Given the description of an element on the screen output the (x, y) to click on. 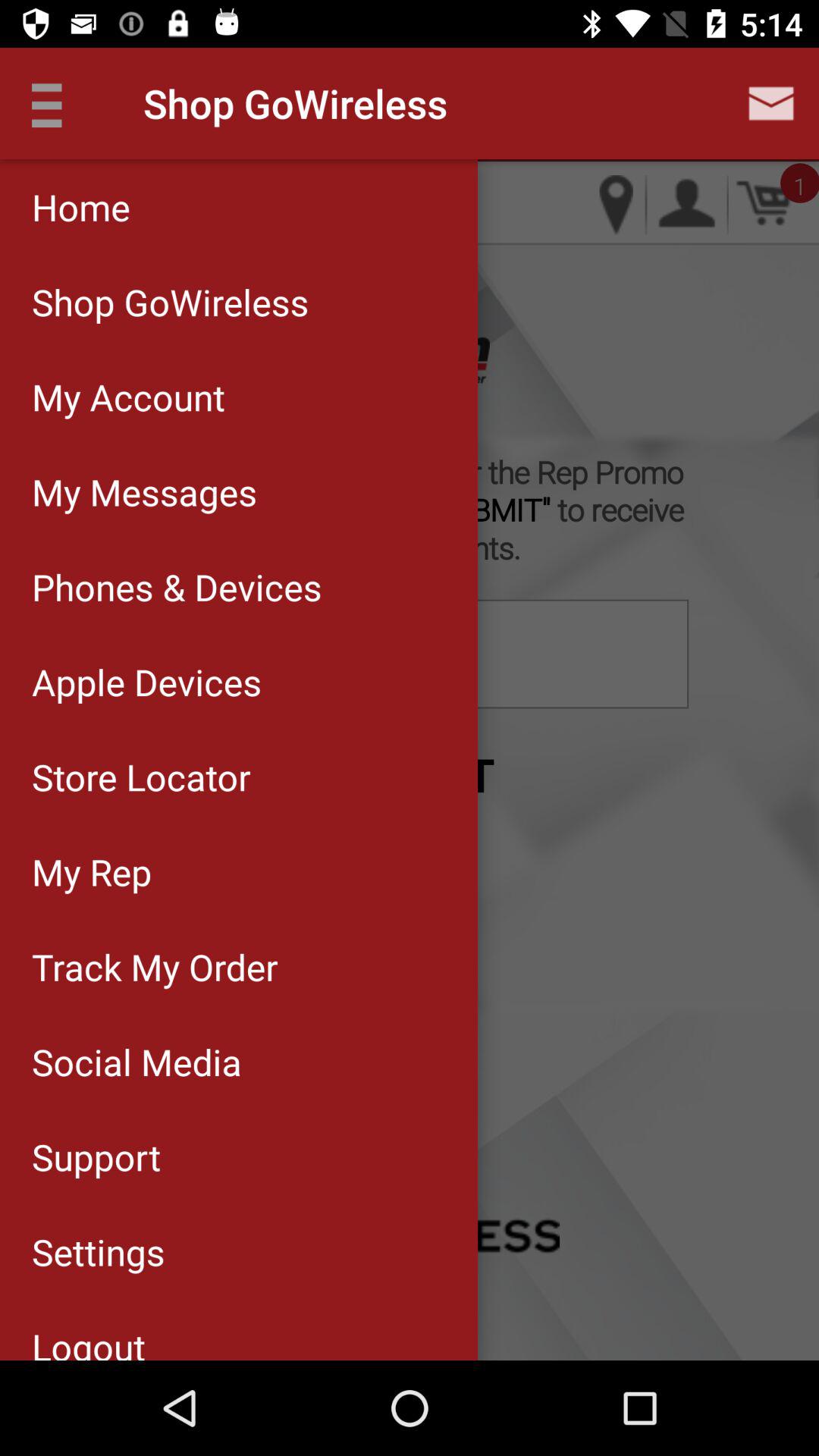
scroll to my account icon (238, 396)
